Given the description of an element on the screen output the (x, y) to click on. 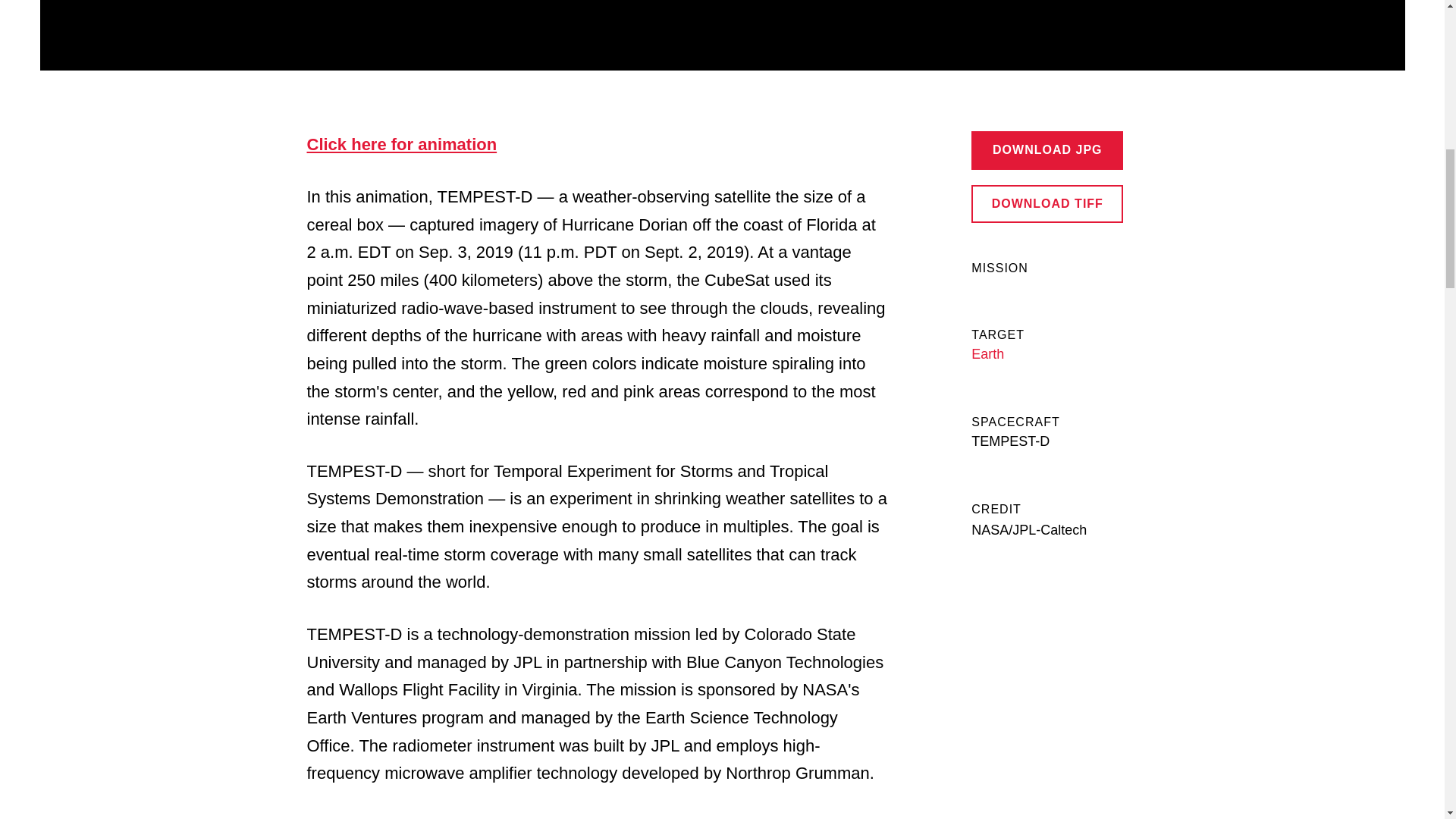
Earth (987, 354)
DOWNLOAD TIFF (1046, 203)
DOWNLOAD JPG (1046, 149)
Click here for animation (400, 144)
